Given the description of an element on the screen output the (x, y) to click on. 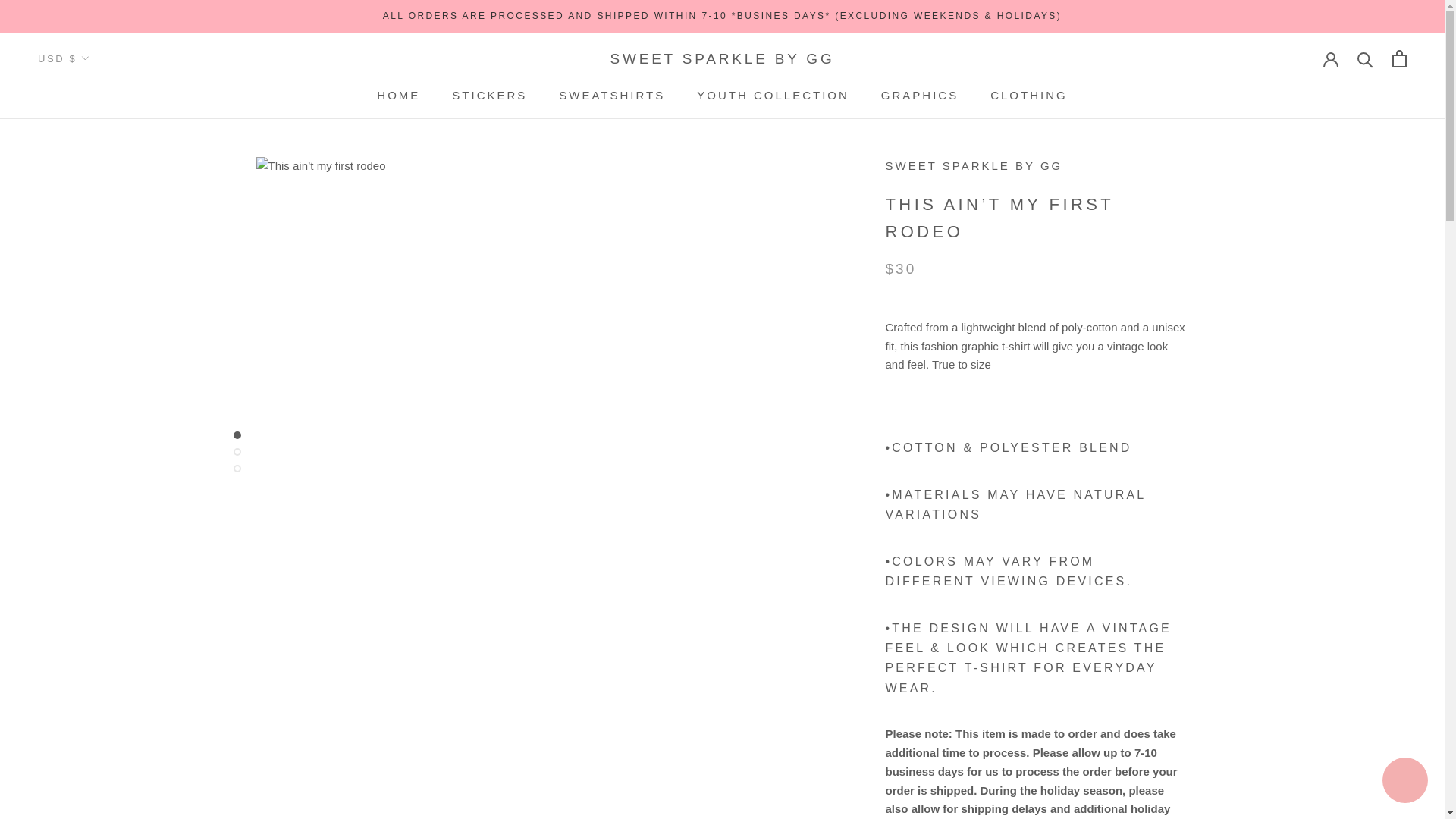
Shopify online store chat (398, 94)
GRAPHICS (772, 94)
